Given the description of an element on the screen output the (x, y) to click on. 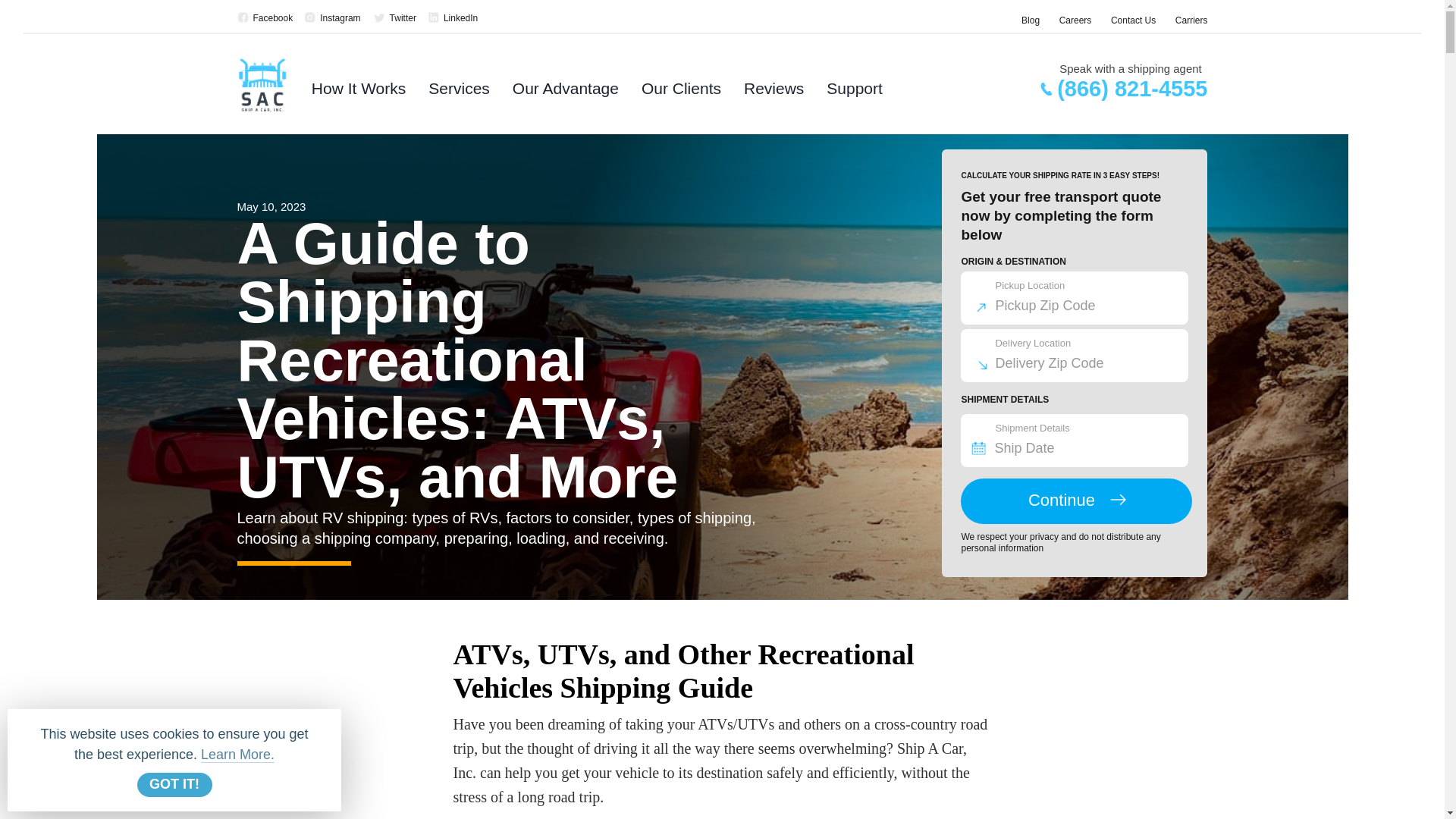
Services (458, 92)
shipacarinc (331, 17)
Blog (1030, 20)
Facebook (263, 17)
Careers (1075, 20)
Carriers (1191, 20)
shipacarinc (394, 17)
LinkedIn (452, 17)
Careers (1075, 20)
shipacar (263, 17)
SHIP A CAR, INC. (452, 17)
How It Works (358, 92)
Contact Us (1133, 20)
Services (458, 92)
Contact Us (1133, 20)
